Given the description of an element on the screen output the (x, y) to click on. 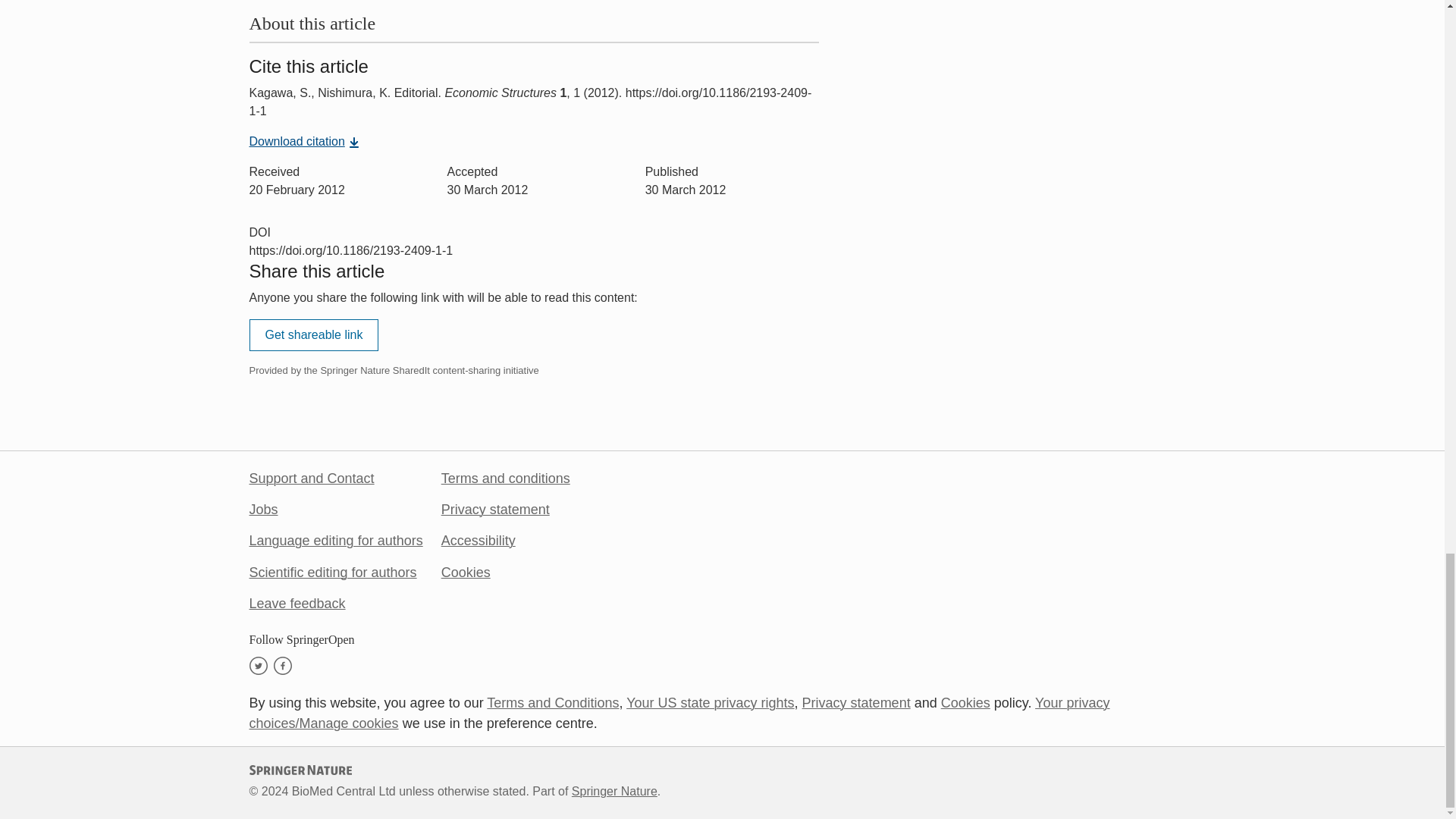
Download citation (303, 141)
Digital Object Identifier (258, 232)
